Given the description of an element on the screen output the (x, y) to click on. 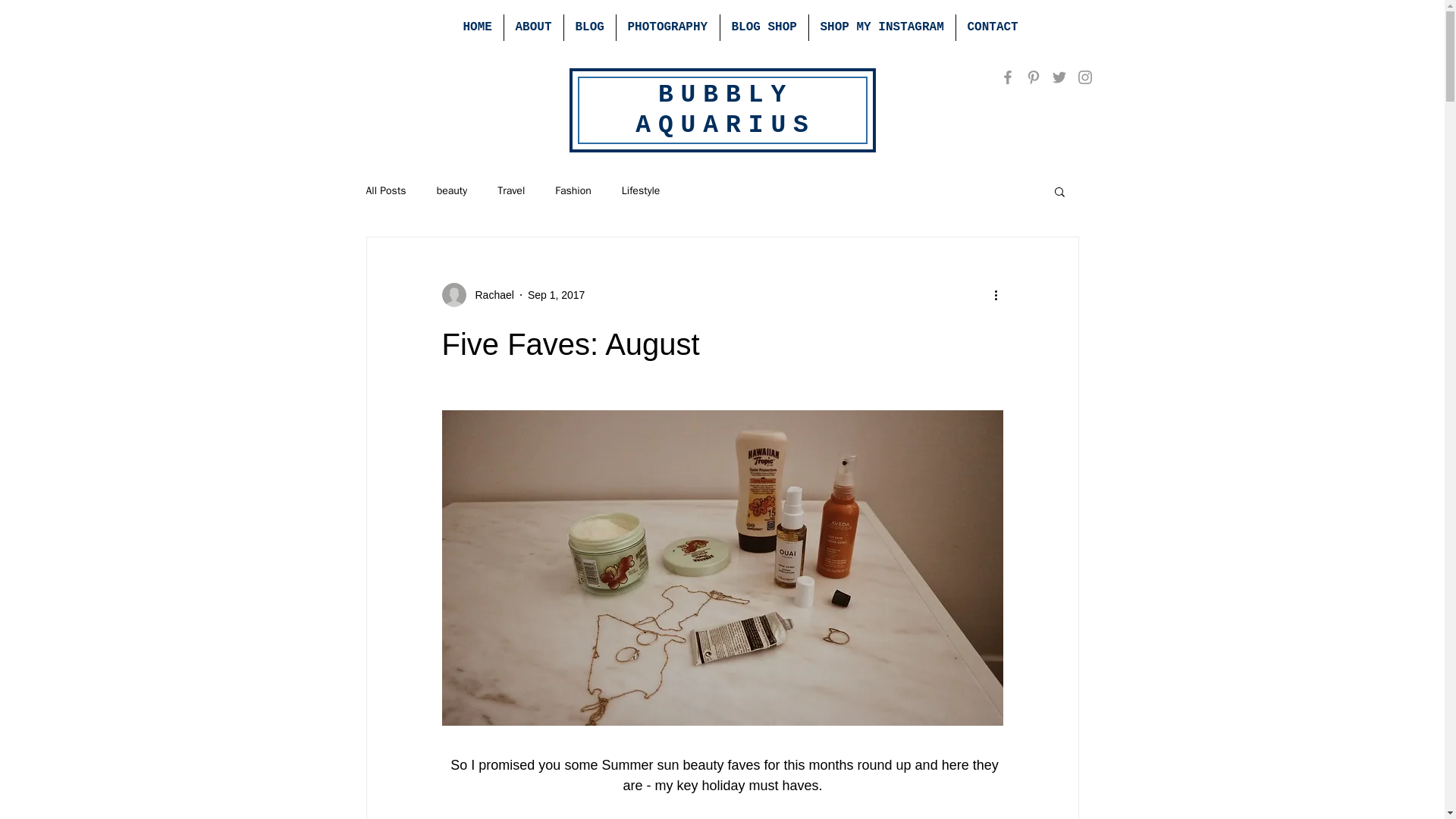
PHOTOGRAPHY (667, 27)
Sep 1, 2017 (556, 294)
SHOP MY INSTAGRAM (881, 27)
beauty (451, 191)
ABOUT (532, 27)
BUBBLY AQUARIUS (724, 110)
BLOG (589, 27)
Rachael (489, 294)
All Posts (385, 191)
HOME (477, 27)
